Given the description of an element on the screen output the (x, y) to click on. 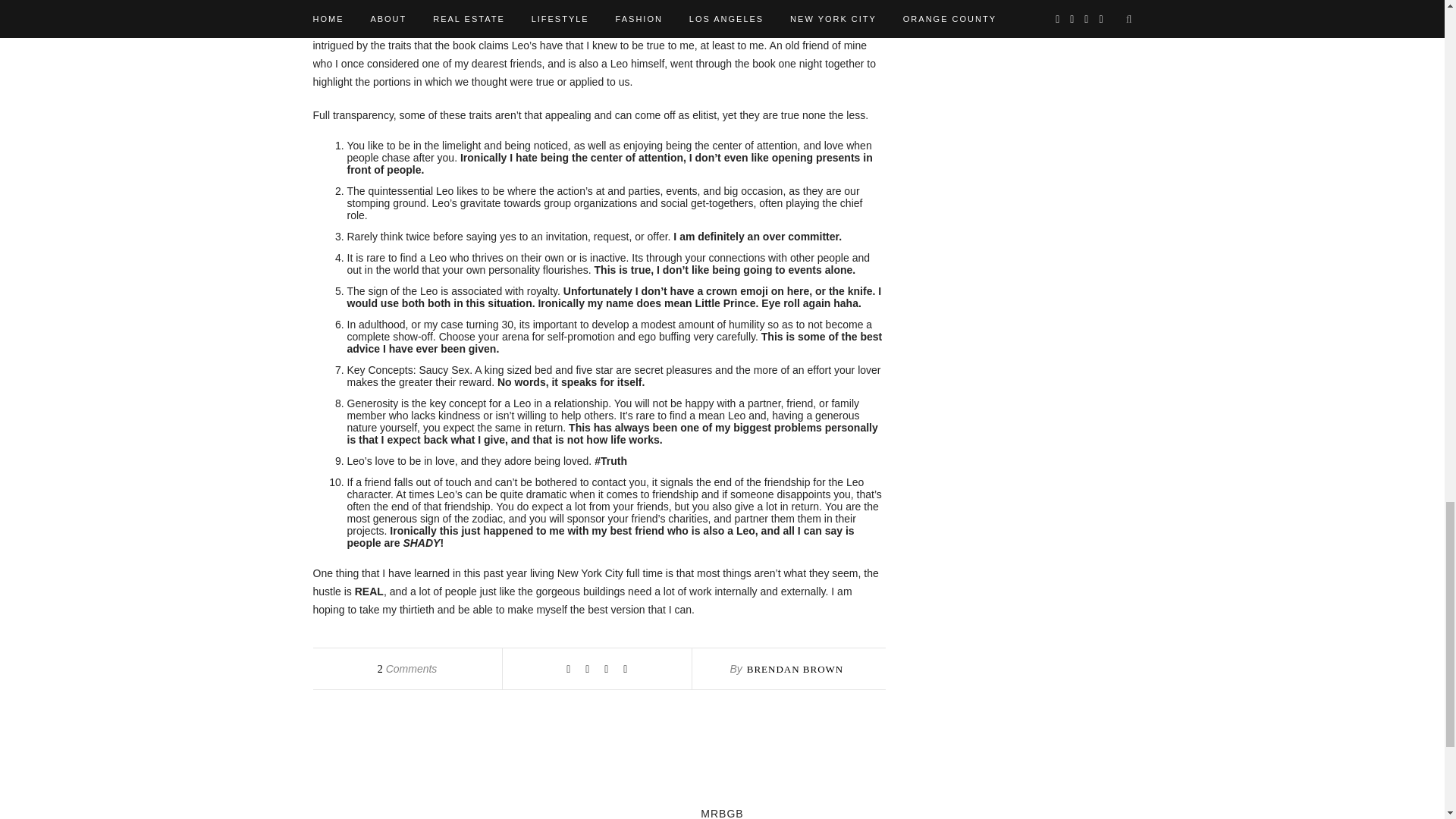
Anthropologie (699, 27)
Posts by Brendan Brown (794, 668)
BRENDAN BROWN (794, 668)
2 Comments (407, 668)
